Given the description of an element on the screen output the (x, y) to click on. 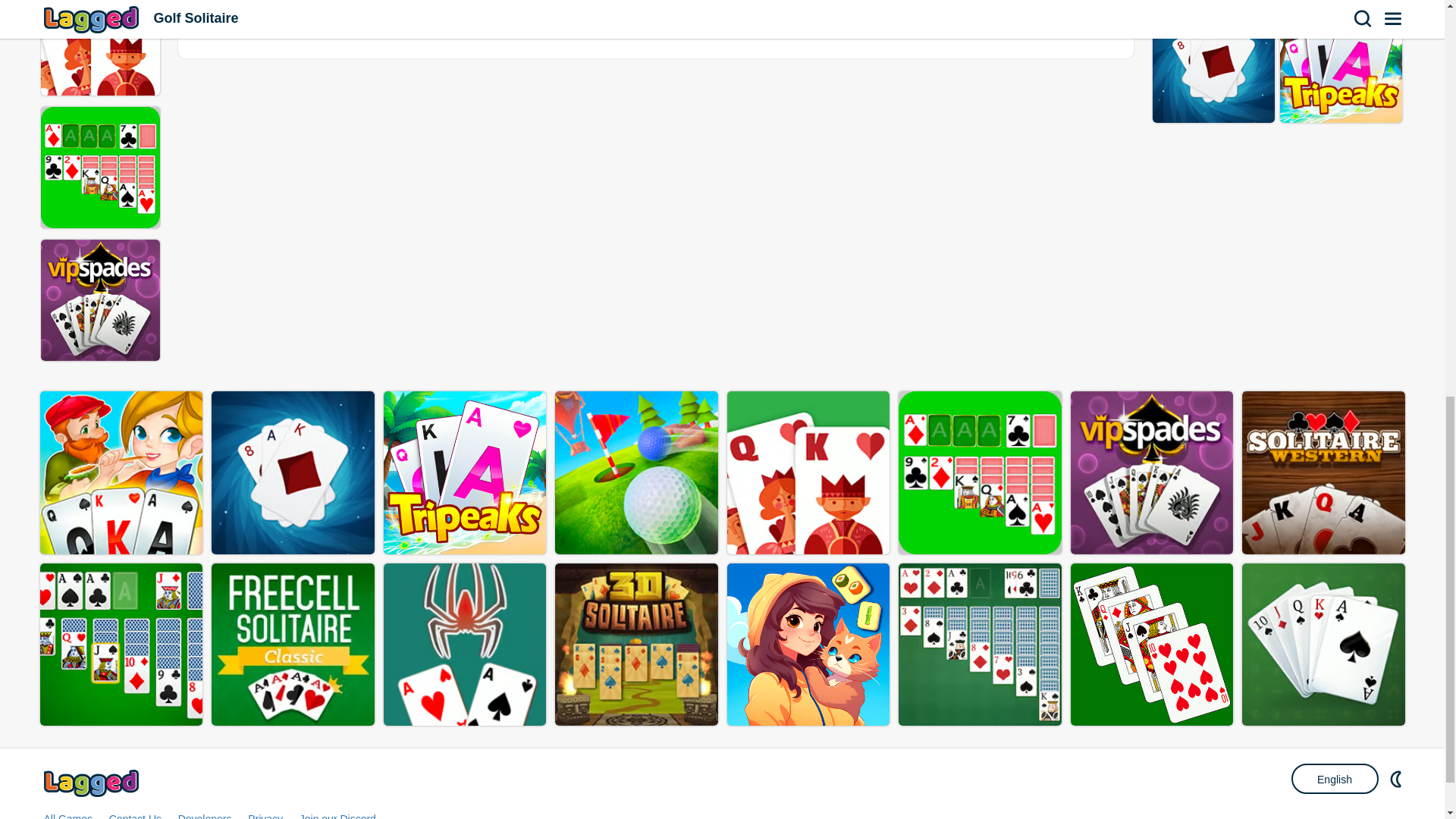
Lagged.com (92, 782)
Solitaire Games (842, 15)
Card Games (657, 15)
Putt Putt Games (471, 15)
Puzzle Games (1027, 15)
